Given the description of an element on the screen output the (x, y) to click on. 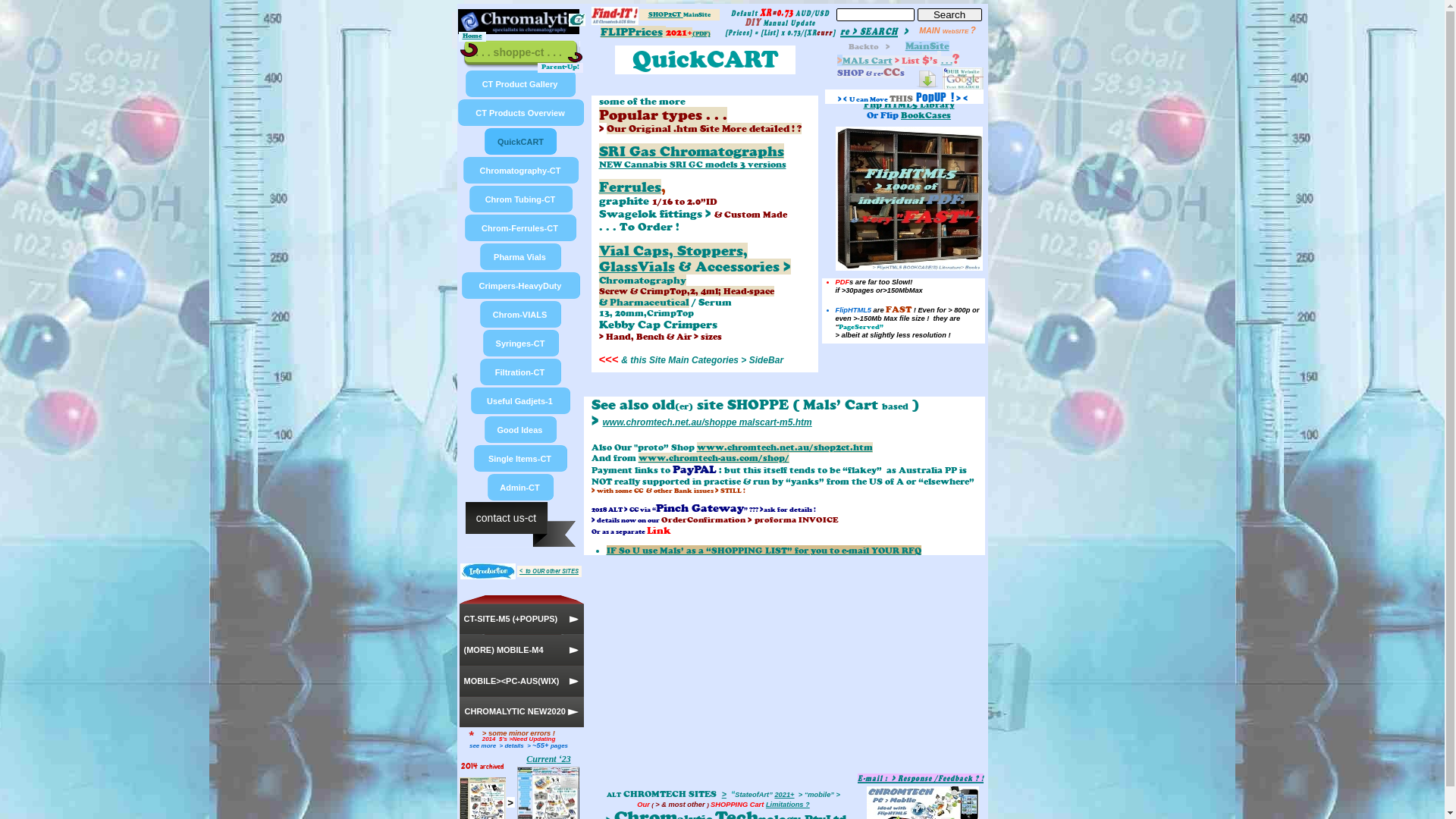
Ferrules Element type: text (630, 186)
Crimpers-HeavyDuty Element type: text (521, 285)
Good Ideas Element type: text (520, 429)
> Element type: text (723, 793)
CT Product Gallery Element type: text (520, 83)
. . . shoppe-ct . . .  Element type: text (521, 53)
BookCases Element type: text (925, 114)
. . . Element type: text (945, 60)
FLIPPrices Element type: text (631, 31)
www.chromtech-aus.com/shop/ Element type: text (713, 457)
CT-SITE-M5 (+POPUPS) Element type: text (521, 614)
Filtration-CT Element type: text (520, 371)
Flip HTML5 Library Element type: text (907, 104)
Single Items-CT Element type: text (520, 458)
Chrom Tubing-CT Element type: text (521, 199)
Find-IT ! Chromtech Element type: hover (614, 15)
Useful Gadjets-1 Element type: text (520, 400)
Chromatography-CT Element type: text (521, 170)
MainSite Element type: text (927, 45)
Limitations ? Element type: text (787, 804)
Admin-CT Element type: text (520, 487)
CT Products Overview Element type: text (520, 112)
Syringes-CT Element type: text (521, 343)
Parent-Up! Element type: text (560, 66)
MALs Cart Element type: text (866, 60)
NEW Cannabis SRI GC models 3 versions Element type: text (692, 164)
Vial Caps, Stoppers, GlassVials Element type: text (673, 258)
QuickCART Element type: text (520, 141)
<  to OUR other SITES Element type: text (548, 570)
Chrom-VIALS Element type: text (520, 314)
www.chromtech.net.au/shop2ct.htm Element type: text (784, 447)
contact us-ct Element type: text (520, 524)
Chromalytic SHOPPE '18 Element type: hover (518, 21)
MOBILE><PC-AUS(WIX) Element type: text (521, 680)
SRI Gas Chromatographs Element type: text (691, 151)
CHROMALYTIC NEW2020 Element type: text (521, 711)
Chrom-Ferrules-CT Element type: text (520, 227)
(MORE) MOBILE-M4 Element type: text (521, 649)
CT Logo > Chromtech Element type: hover (576, 19)
(PDF) Element type: text (700, 33)
SHOP2CT Element type: text (664, 13)
Home Element type: text (472, 35)
Pharma Vials Element type: text (520, 256)
Current Element type: text (540, 758)
www.chromtech.net.au/shoppe malscart-m5.htm Element type: text (706, 422)
2021+ Element type: text (783, 794)
GOOGLE This Site Element type: hover (961, 79)
